Given the description of an element on the screen output the (x, y) to click on. 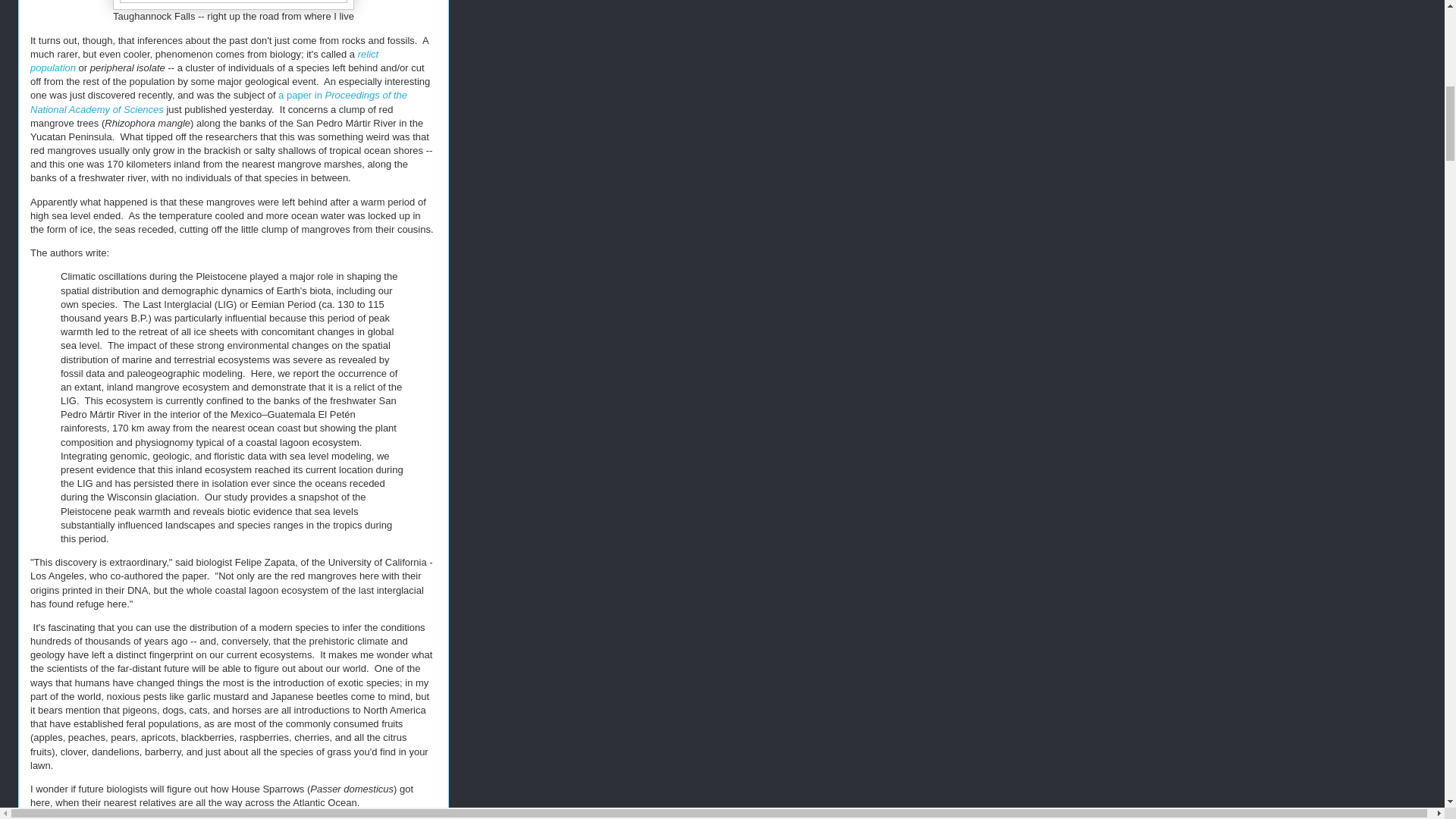
a paper in Proceedings of the National Academy of Sciences (218, 101)
relict population (204, 60)
